Given the description of an element on the screen output the (x, y) to click on. 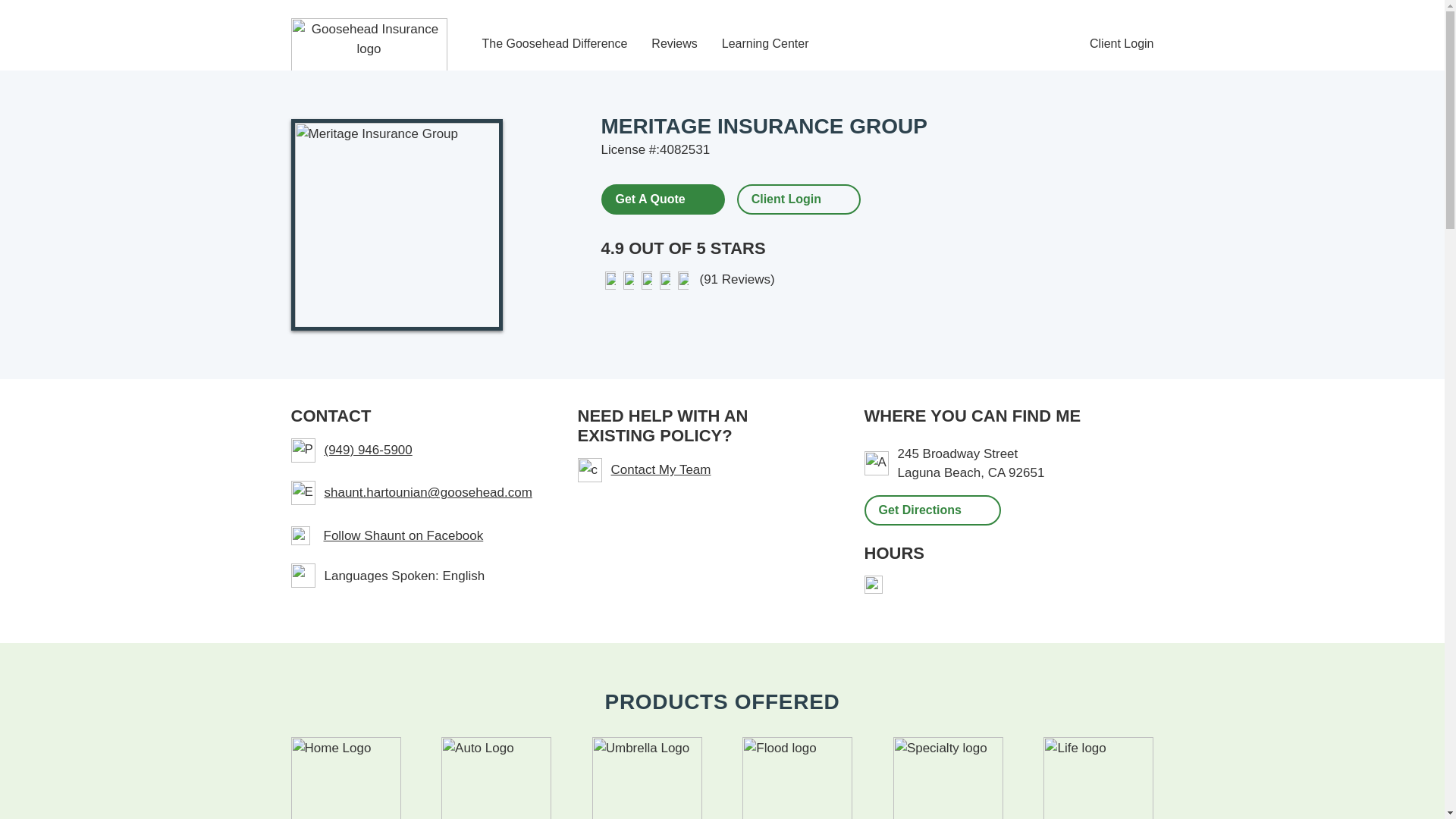
Client Login (1121, 44)
AUTO (496, 778)
HOME (346, 778)
LIFE (1098, 778)
Get A Quote (661, 198)
Get Directions (932, 510)
Reviews (673, 44)
Client Login (786, 198)
California (997, 472)
FLOOD (796, 778)
SPECIALTY (948, 778)
The Goosehead Difference (554, 44)
UMBRELLA (646, 778)
Learning Center (765, 44)
